Given the description of an element on the screen output the (x, y) to click on. 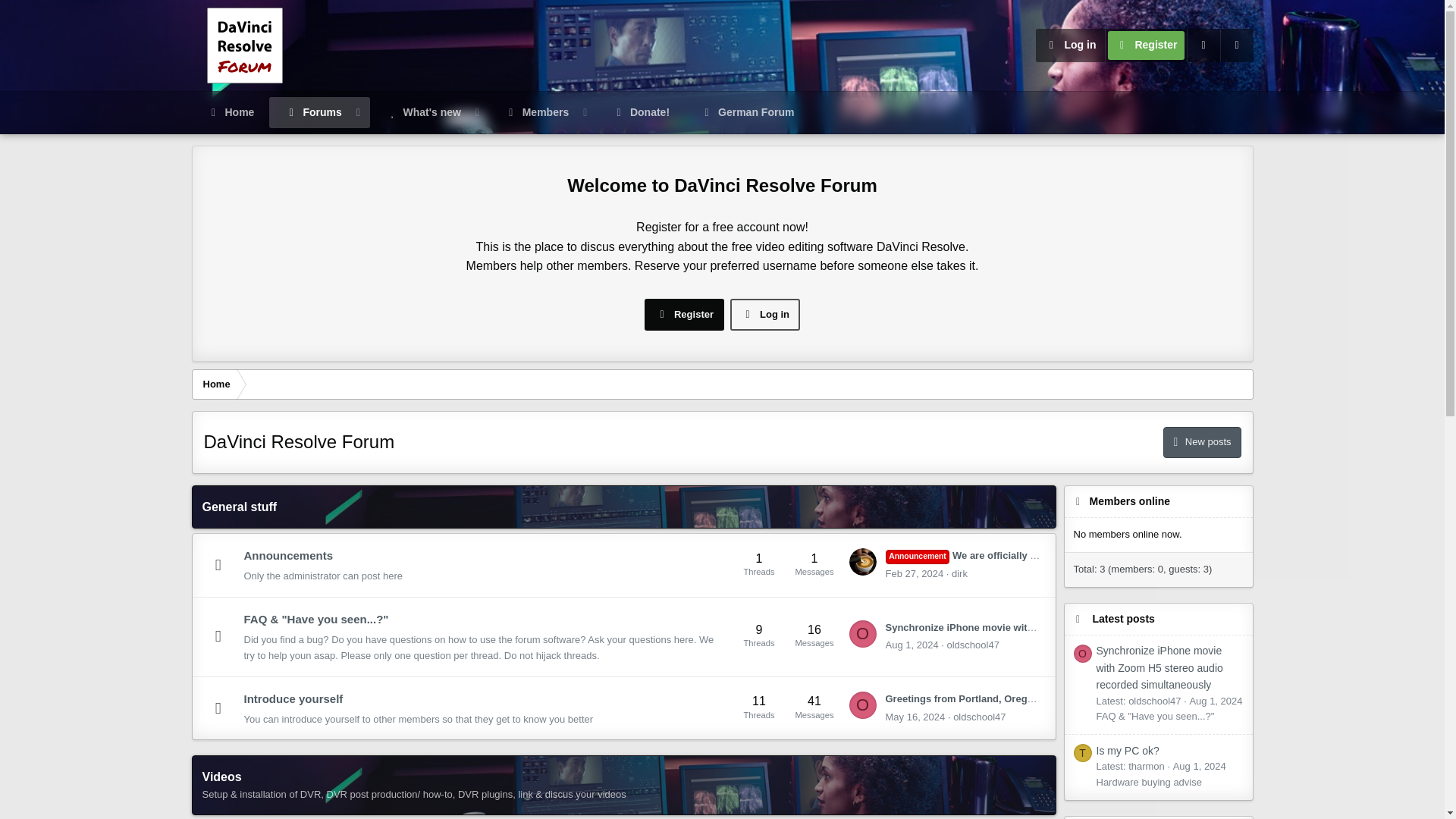
O (862, 633)
Aug 1, 2024 at 5:14 AM (1199, 766)
Register (1145, 45)
General stuff (239, 506)
Aug 1, 2024 at 11:19 PM (912, 644)
Greetings from Portland, Oregon USA! (975, 698)
Donate! (640, 112)
Announcement We are officially online now! (984, 555)
Home (215, 384)
